Given the description of an element on the screen output the (x, y) to click on. 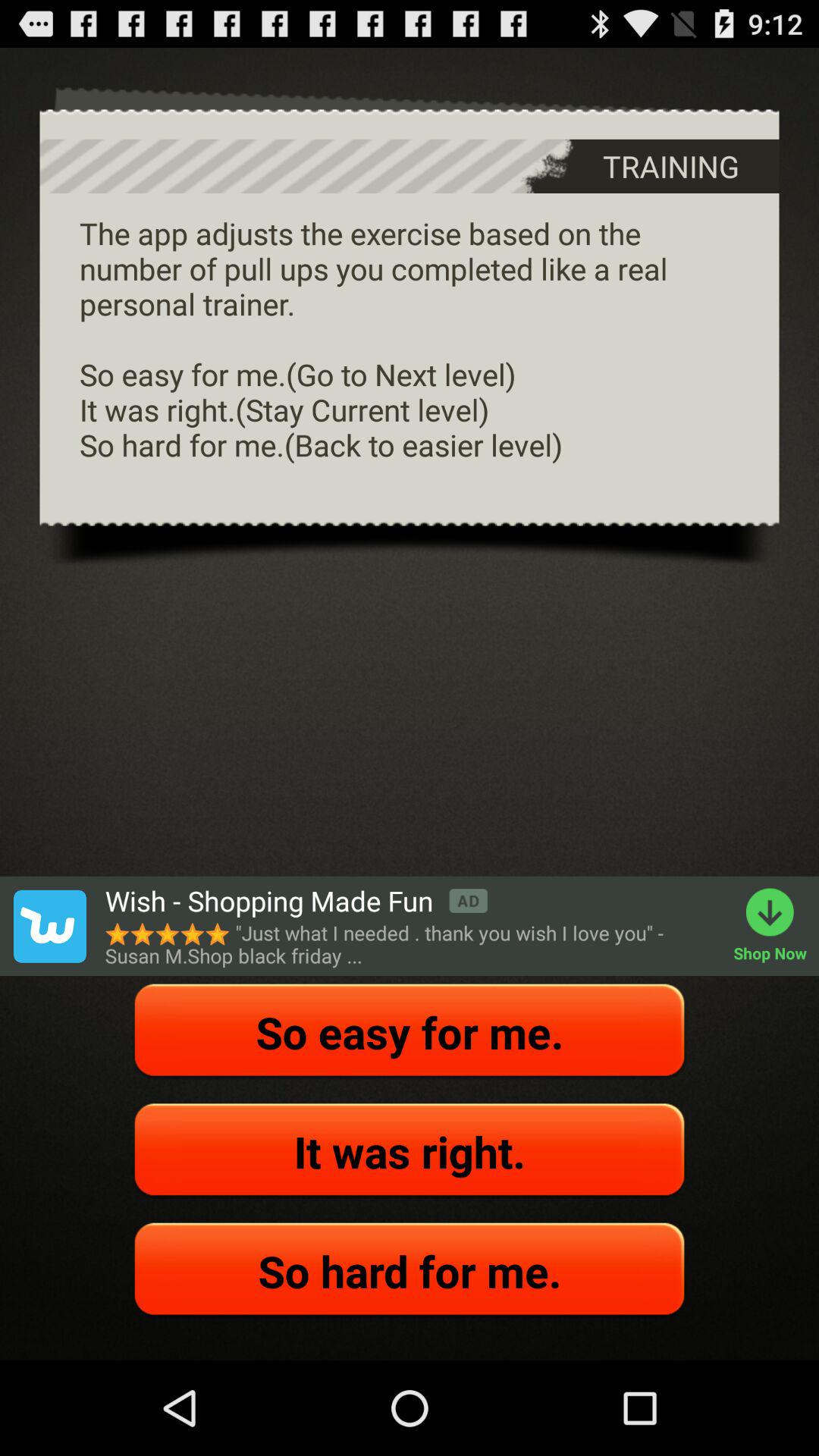
choose app below the app adjusts item (49, 925)
